Given the description of an element on the screen output the (x, y) to click on. 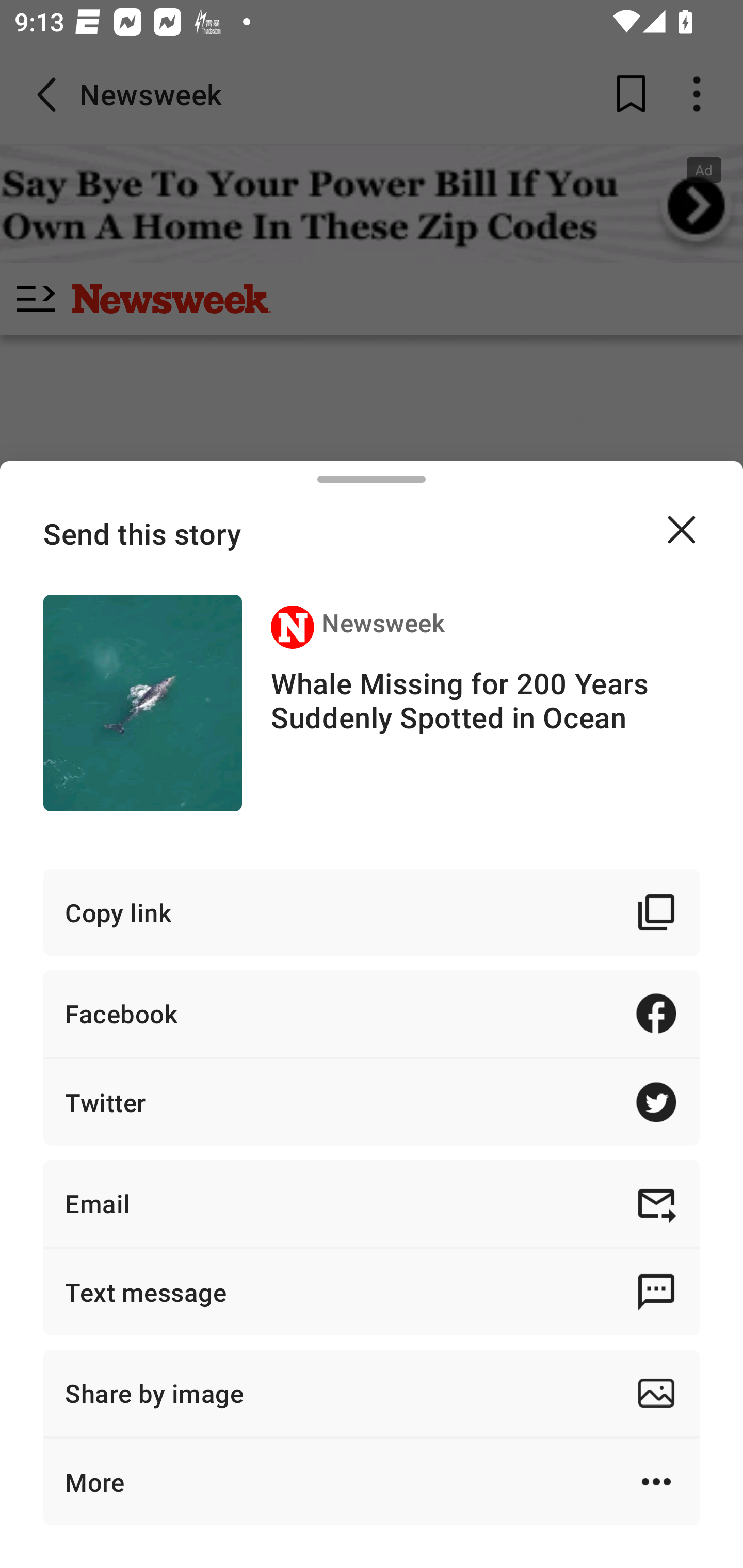
Copy link (371, 912)
Facebook (371, 1013)
Twitter (371, 1102)
Email (371, 1203)
Text message (371, 1291)
Share by image (371, 1393)
More (371, 1481)
